Given the description of an element on the screen output the (x, y) to click on. 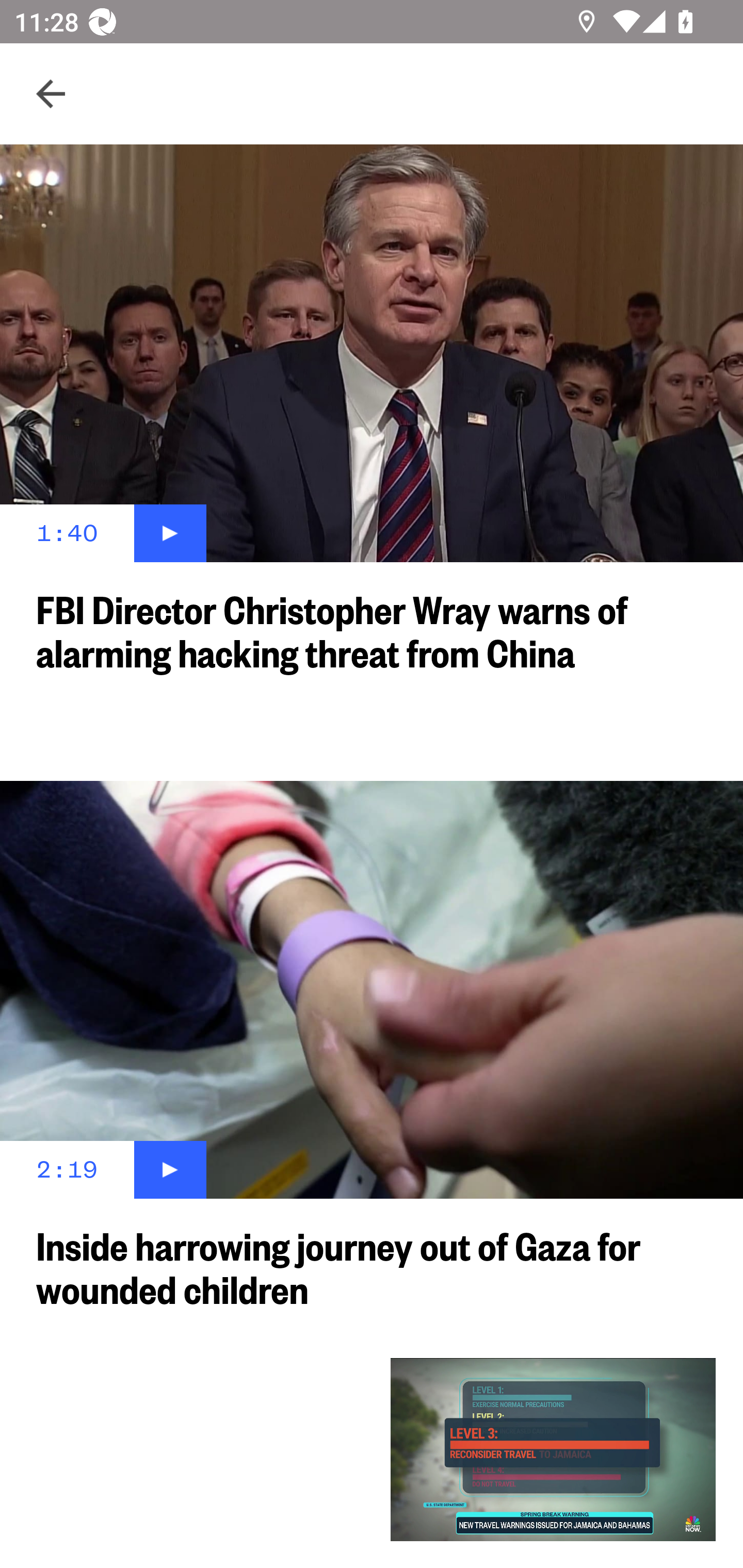
Navigate up (50, 93)
